Given the description of an element on the screen output the (x, y) to click on. 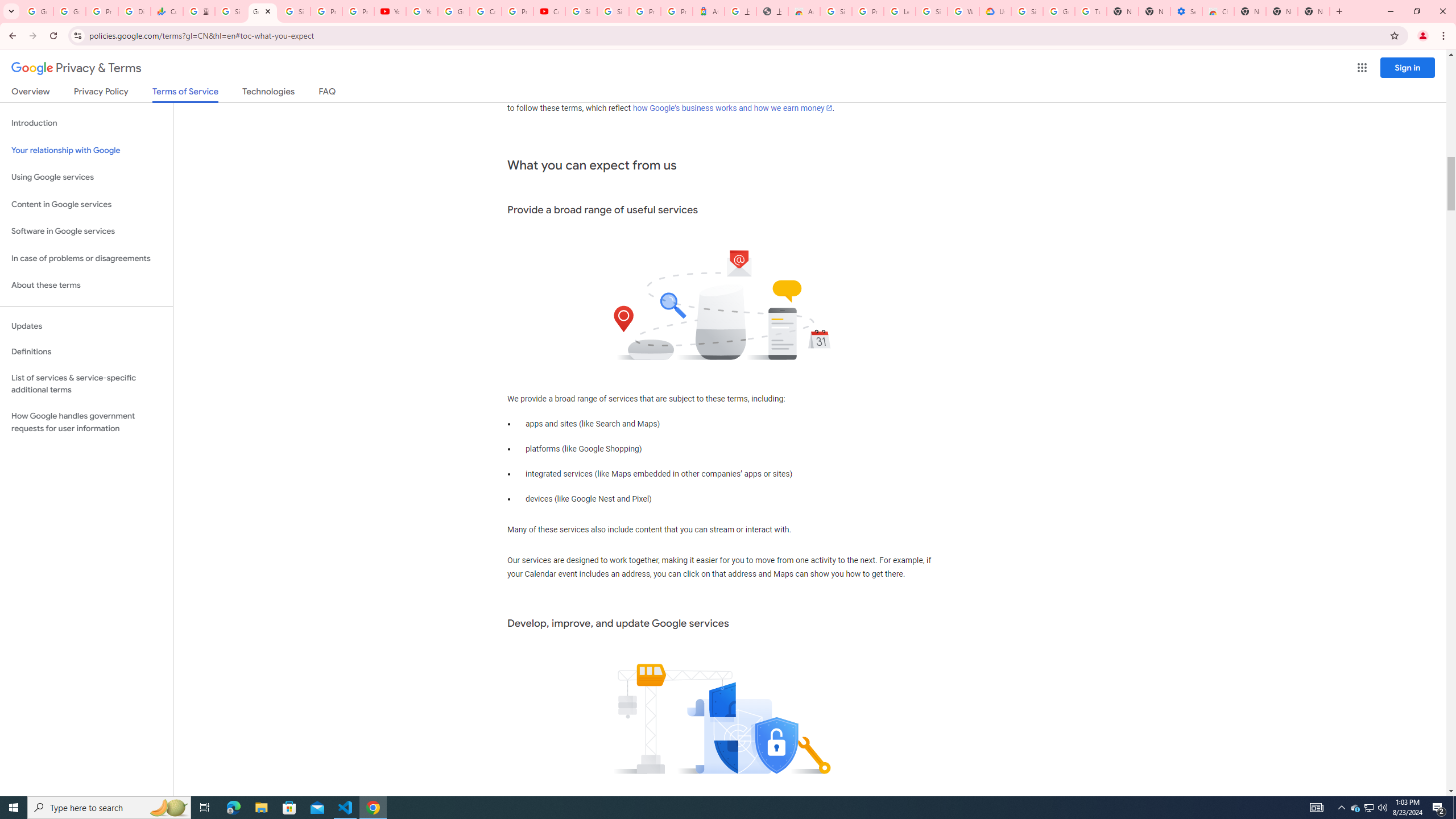
affiliates (611, 94)
Content in Google services (86, 204)
Sign in - Google Accounts (230, 11)
Who are Google's partners? - Privacy and conditions - Google (963, 11)
How Google handles government requests for user information (86, 422)
Google Account Help (1059, 11)
